Given the description of an element on the screen output the (x, y) to click on. 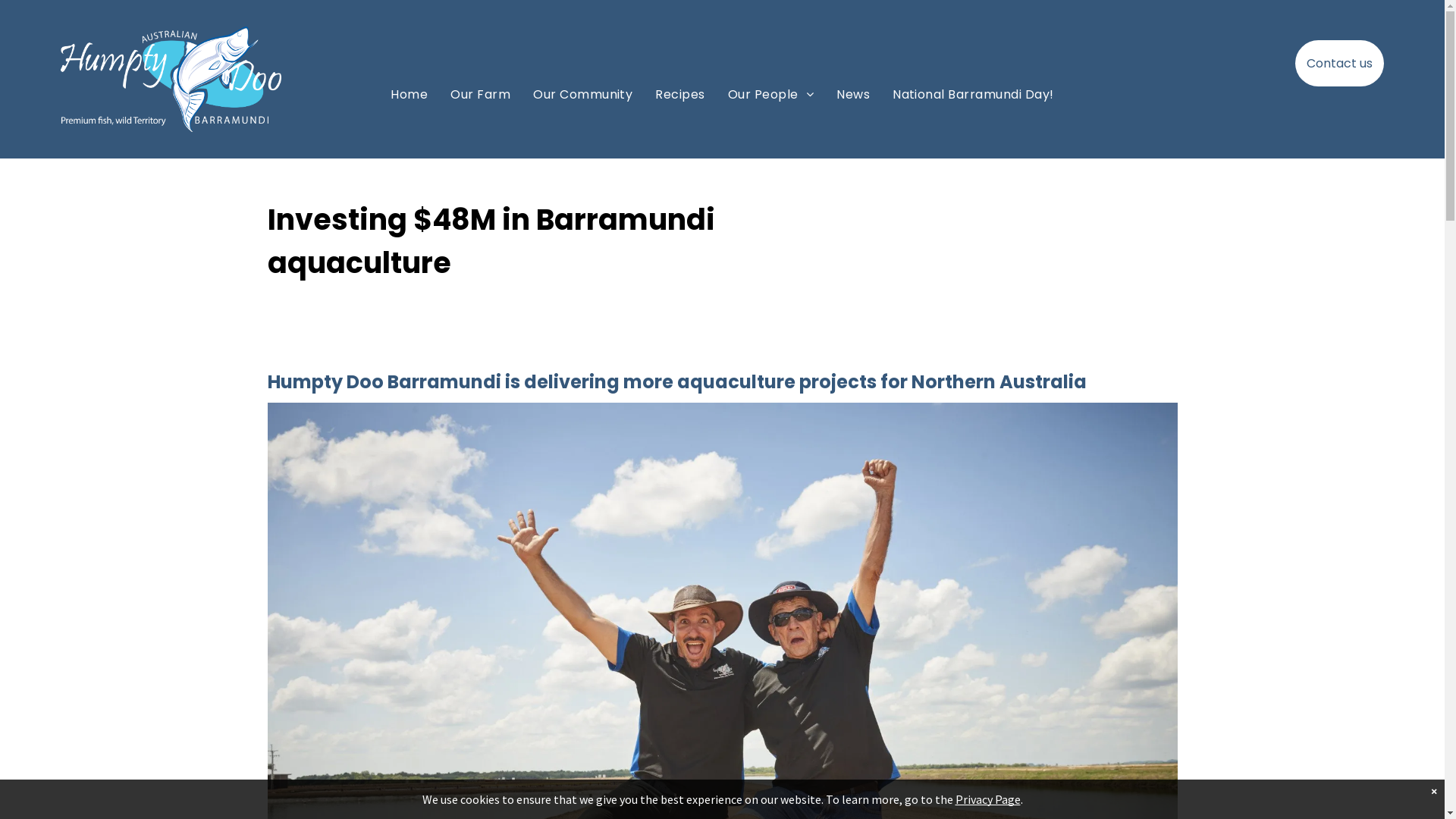
Our People Element type: text (770, 94)
National Barramundi Day! Element type: text (973, 94)
Home Element type: text (409, 94)
Our Community Element type: text (582, 94)
Contact us Element type: text (1339, 63)
Our Farm Element type: text (480, 94)
News Element type: text (853, 94)
Recipes Element type: text (679, 94)
Privacy Page Element type: text (987, 798)
